Given the description of an element on the screen output the (x, y) to click on. 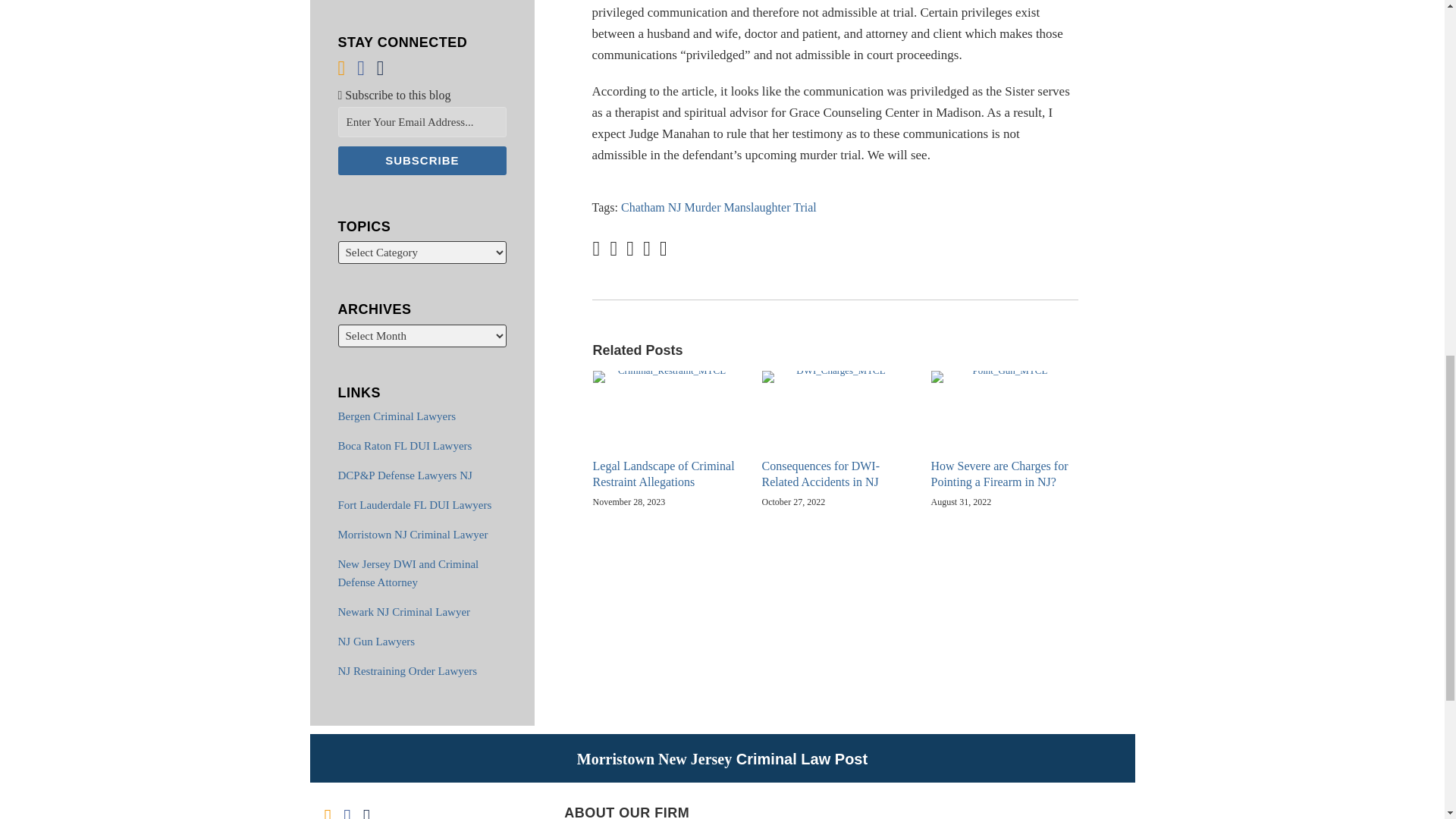
NJ Restraining Order Lawyers (407, 671)
Consequences for DWI-Related Accidents in NJ (834, 474)
Subscribe (421, 160)
How Severe are Charges for Pointing a Firearm in NJ? (1004, 474)
Morristown NJ Criminal Lawyer (412, 534)
Chatham NJ Murder Manslaughter Trial (718, 206)
Fort Lauderdale FL DUI Lawyers (414, 504)
New Jersey DWI and Criminal Defense Attorney (408, 572)
Legal Landscape of Criminal Restraint Allegations (665, 474)
Newark NJ Criminal Lawyer (403, 612)
